Given the description of an element on the screen output the (x, y) to click on. 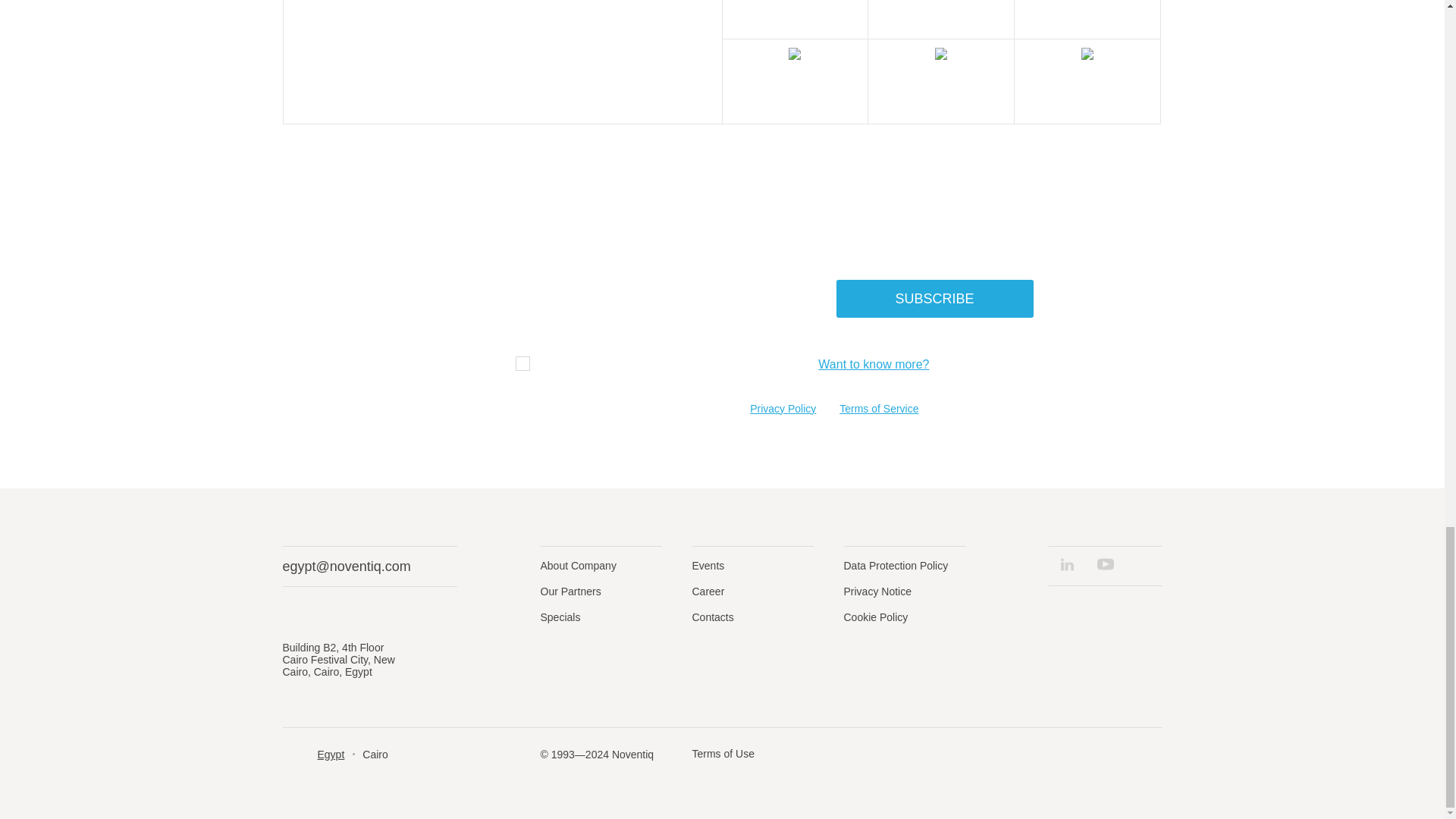
Subscribe (933, 298)
